Given the description of an element on the screen output the (x, y) to click on. 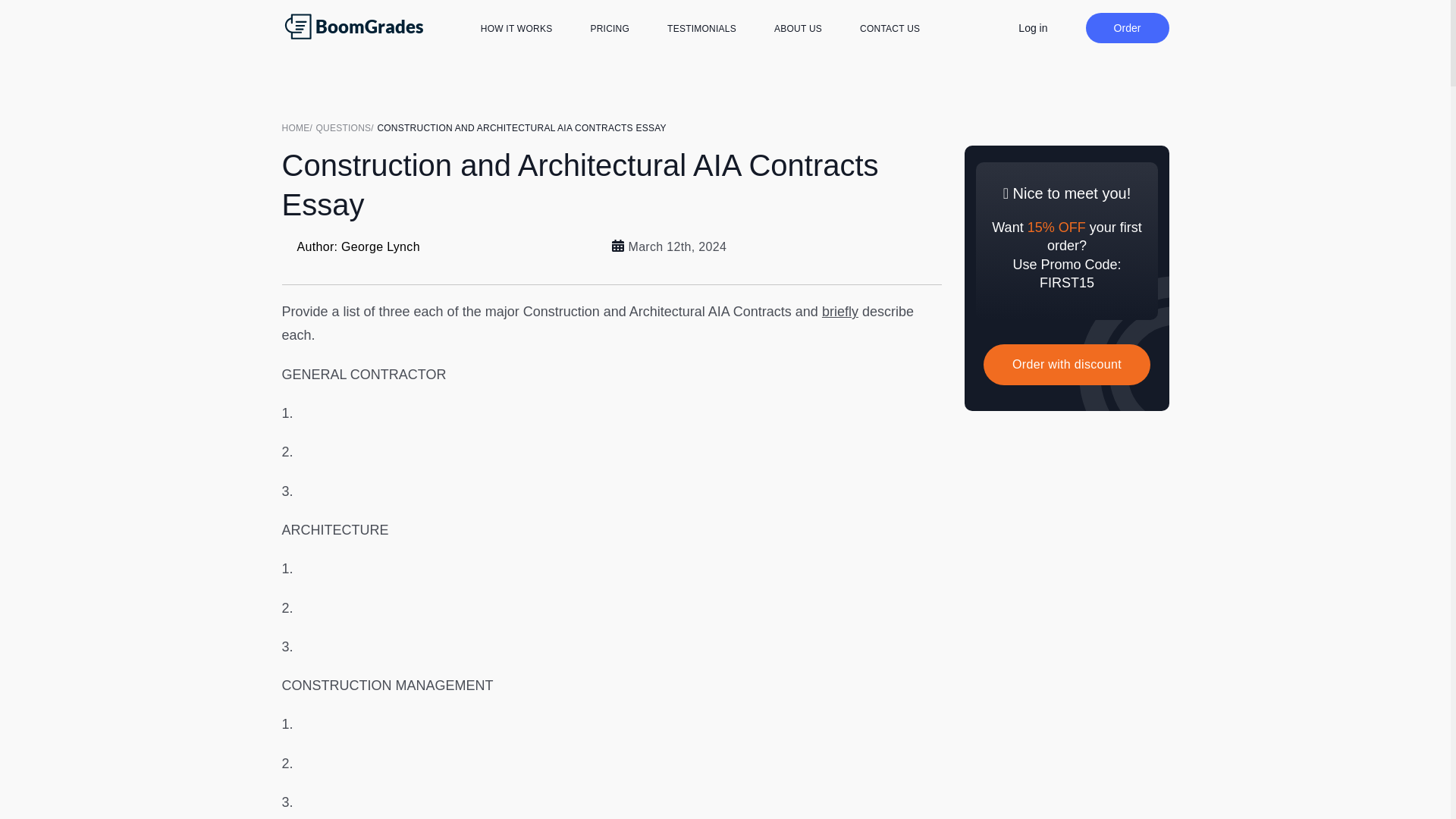
Log in (1031, 27)
PRICING (608, 28)
HOME (298, 126)
TESTIMONIALS (701, 28)
ABOUT US (798, 28)
Go to Boom Grades (298, 126)
Order with discount (1066, 363)
CONTACT US (890, 28)
Order (1127, 28)
HOW IT WORKS (516, 28)
